Given the description of an element on the screen output the (x, y) to click on. 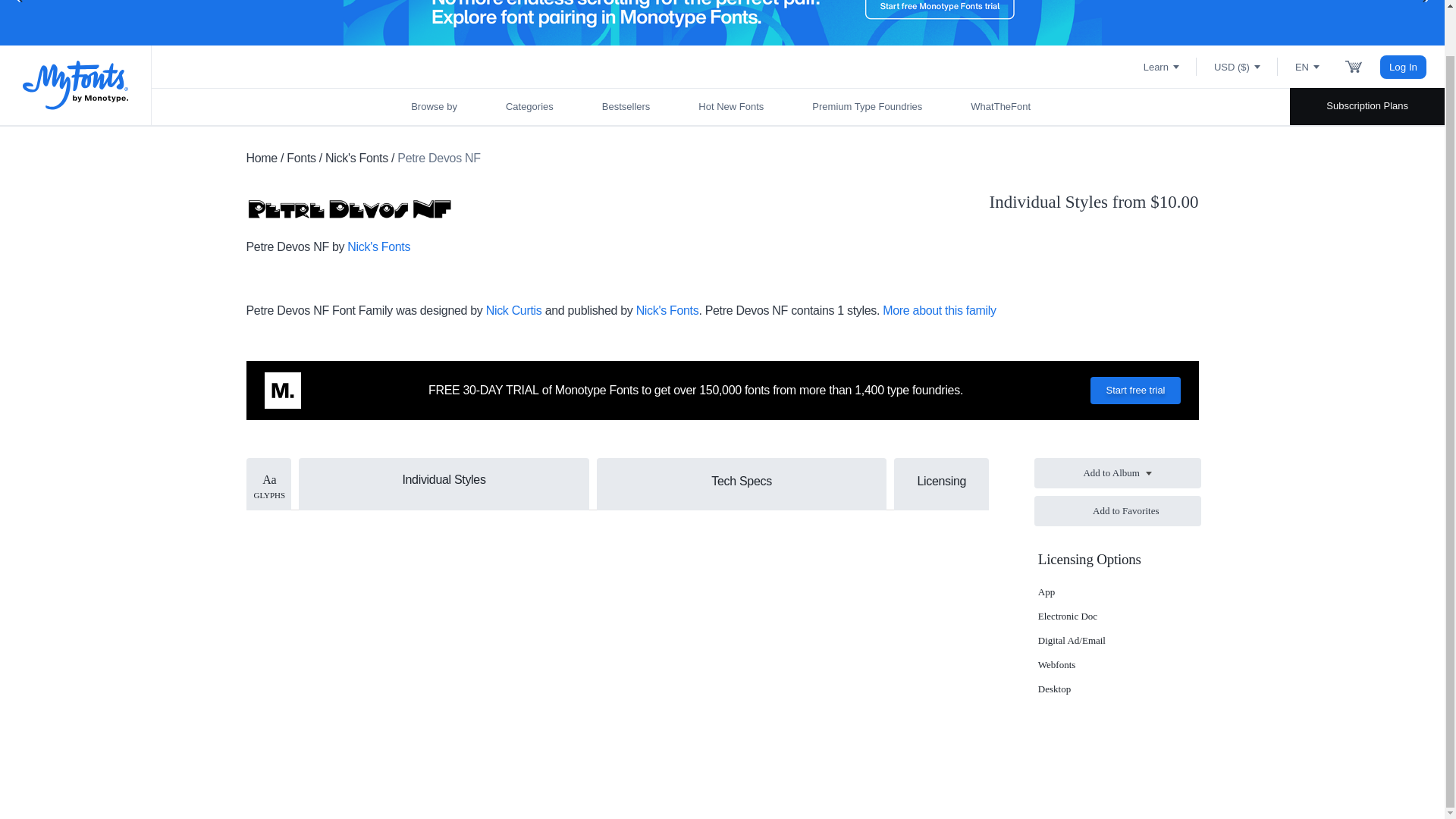
Skip to content (72, 2)
Tech Specs (741, 480)
Log In (1403, 65)
Licensing (940, 480)
MyFonts (75, 85)
Individual Styles (443, 477)
